Given the description of an element on the screen output the (x, y) to click on. 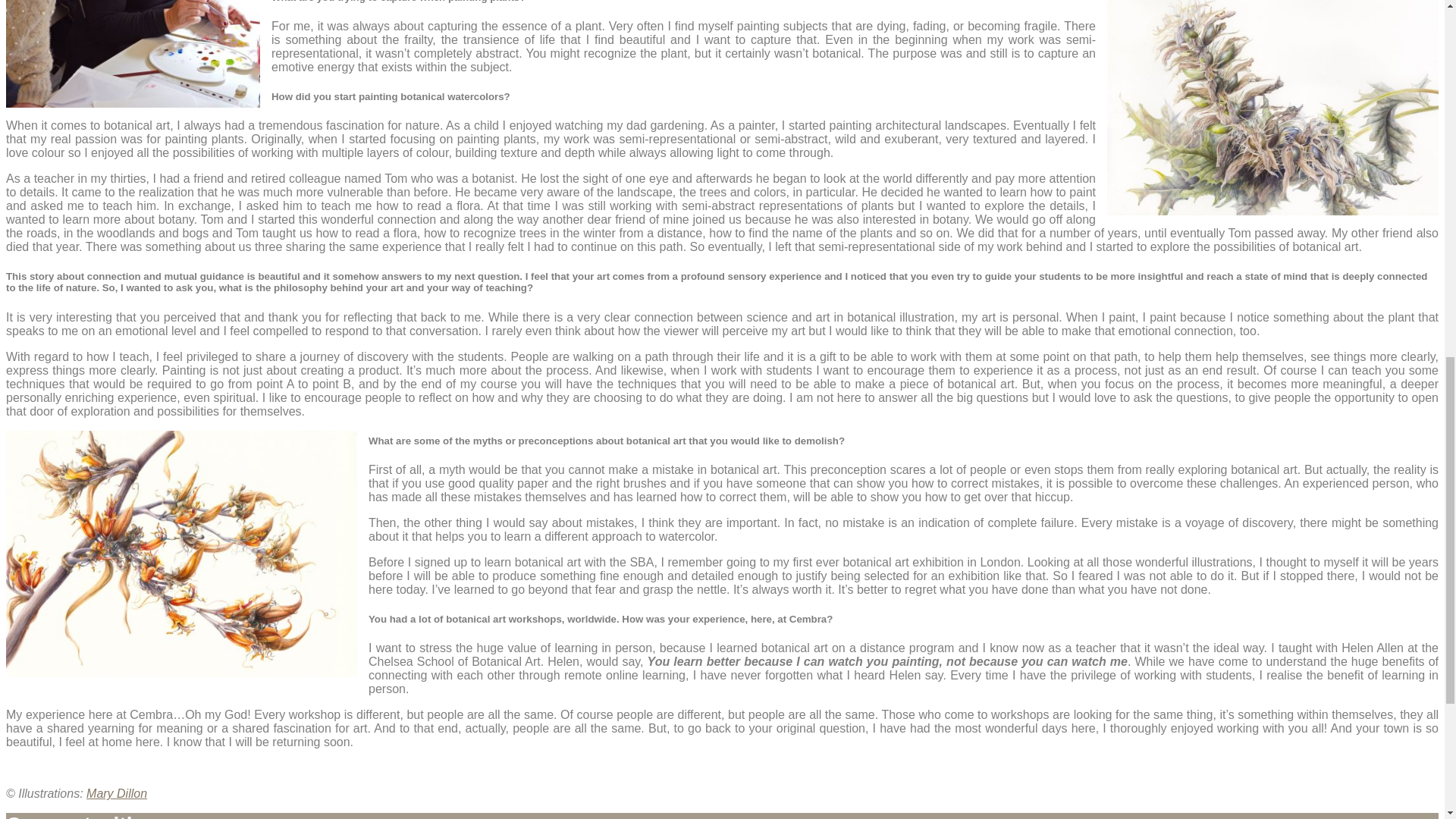
Mary Dillon (116, 793)
